Given the description of an element on the screen output the (x, y) to click on. 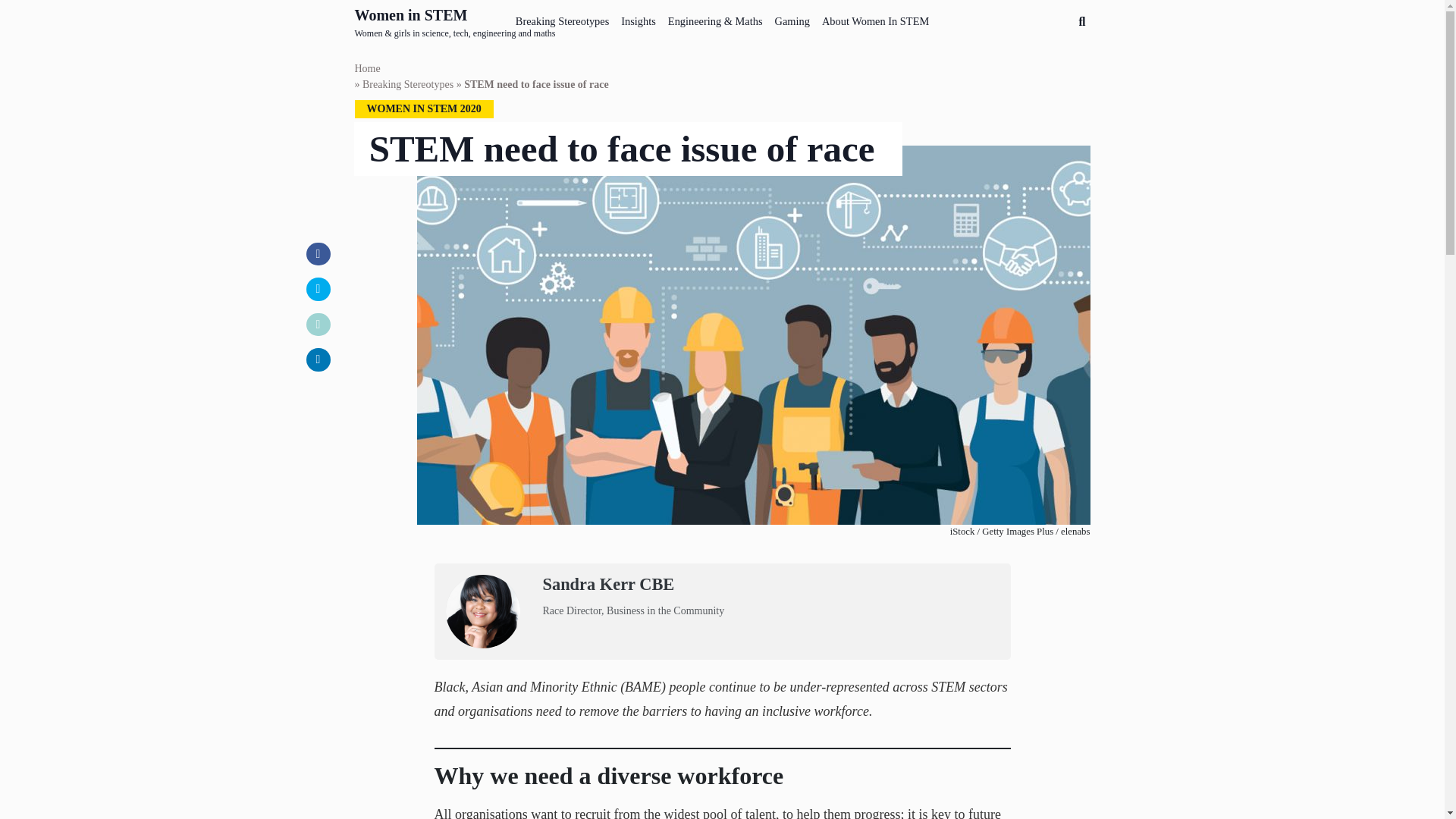
Gaming (791, 18)
Breaking Stereotypes (562, 18)
Breaking Stereotypes (407, 84)
Home (367, 68)
About Women In STEM (874, 18)
Insights (638, 18)
